Given the description of an element on the screen output the (x, y) to click on. 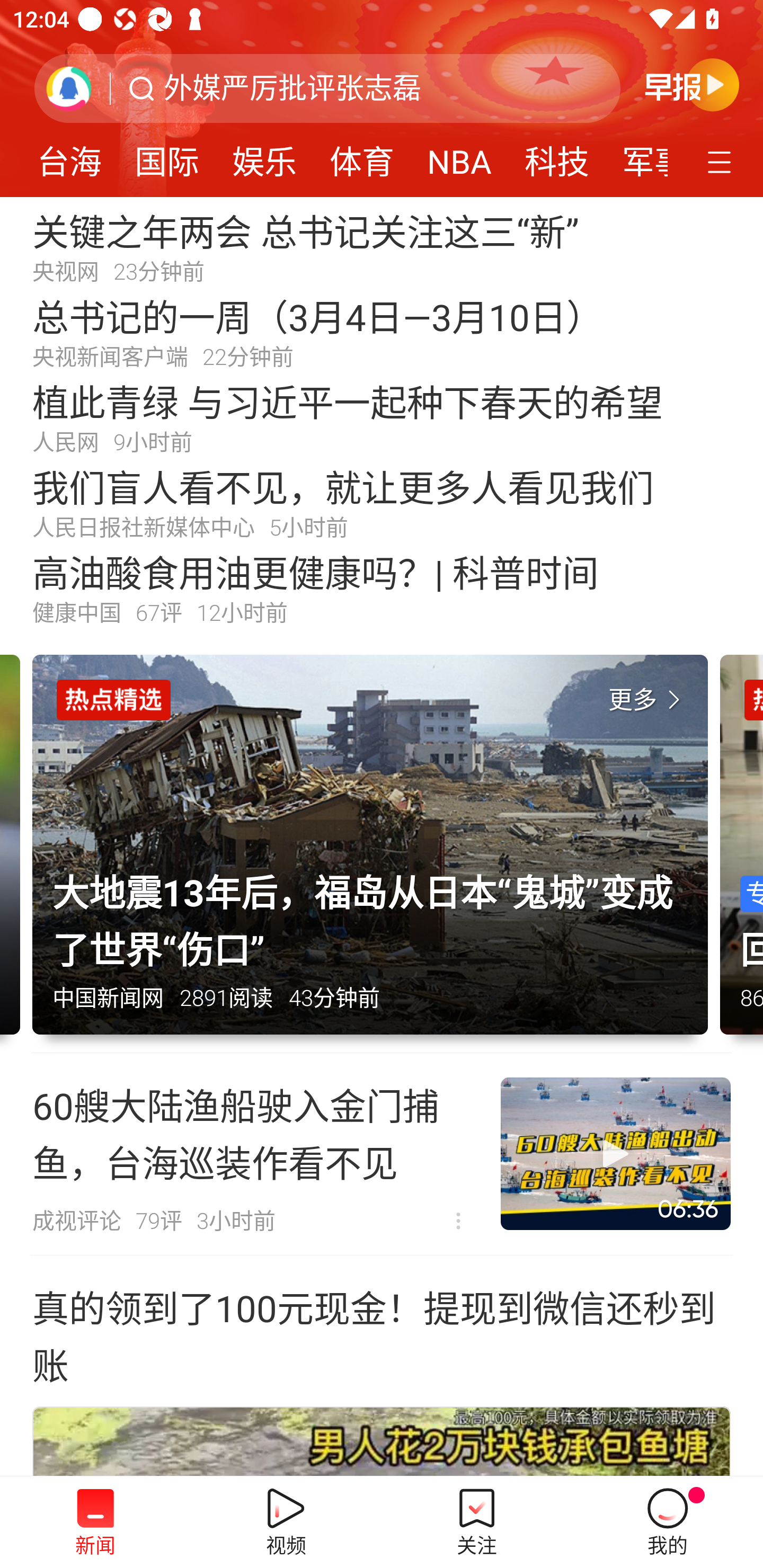
腾讯新闻 (381, 98)
早晚报 (691, 84)
刷新 (68, 88)
外媒严厉批评张志磊 (292, 88)
台海 (69, 155)
国际 (166, 155)
娱乐 (263, 155)
体育 (361, 155)
NBA (459, 155)
科技 (556, 155)
 定制频道 (721, 160)
关键之年两会 总书记关注这三“新” 央视网 23分钟前 (381, 245)
总书记的一周（3月4日—3月10日） 央视新闻客户端 22分钟前 (381, 331)
植此青绿 与习近平一起种下春天的希望 人民网 9小时前 (381, 416)
我们盲人看不见，就让更多人看见我们 人民日报社新媒体中心 5小时前 (381, 502)
高油酸食用油更健康吗？| 科普时间 健康中国 67评 12小时前 (381, 587)
更多  (648, 699)
60艘大陆渔船驶入金门捕鱼，台海巡装作看不见 成视评论 79评 3小时前  不感兴趣 06:36 (381, 1153)
 不感兴趣 (458, 1221)
真的领到了100元现金！提现到微信还秒到账 (381, 1334)
